Given the description of an element on the screen output the (x, y) to click on. 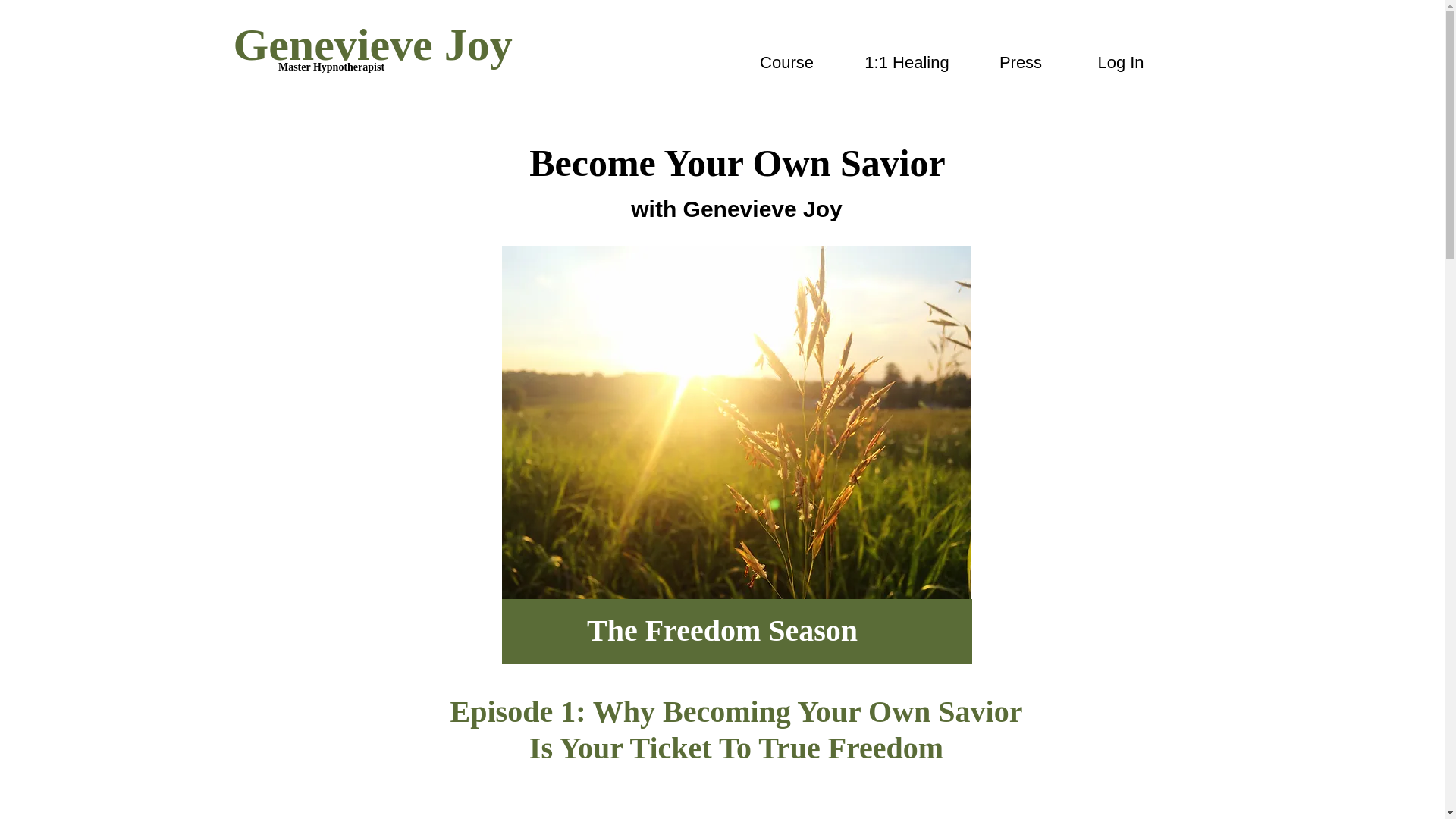
Press (1020, 62)
Course (786, 62)
Log In (1120, 62)
Genevieve Joy (372, 44)
